Given the description of an element on the screen output the (x, y) to click on. 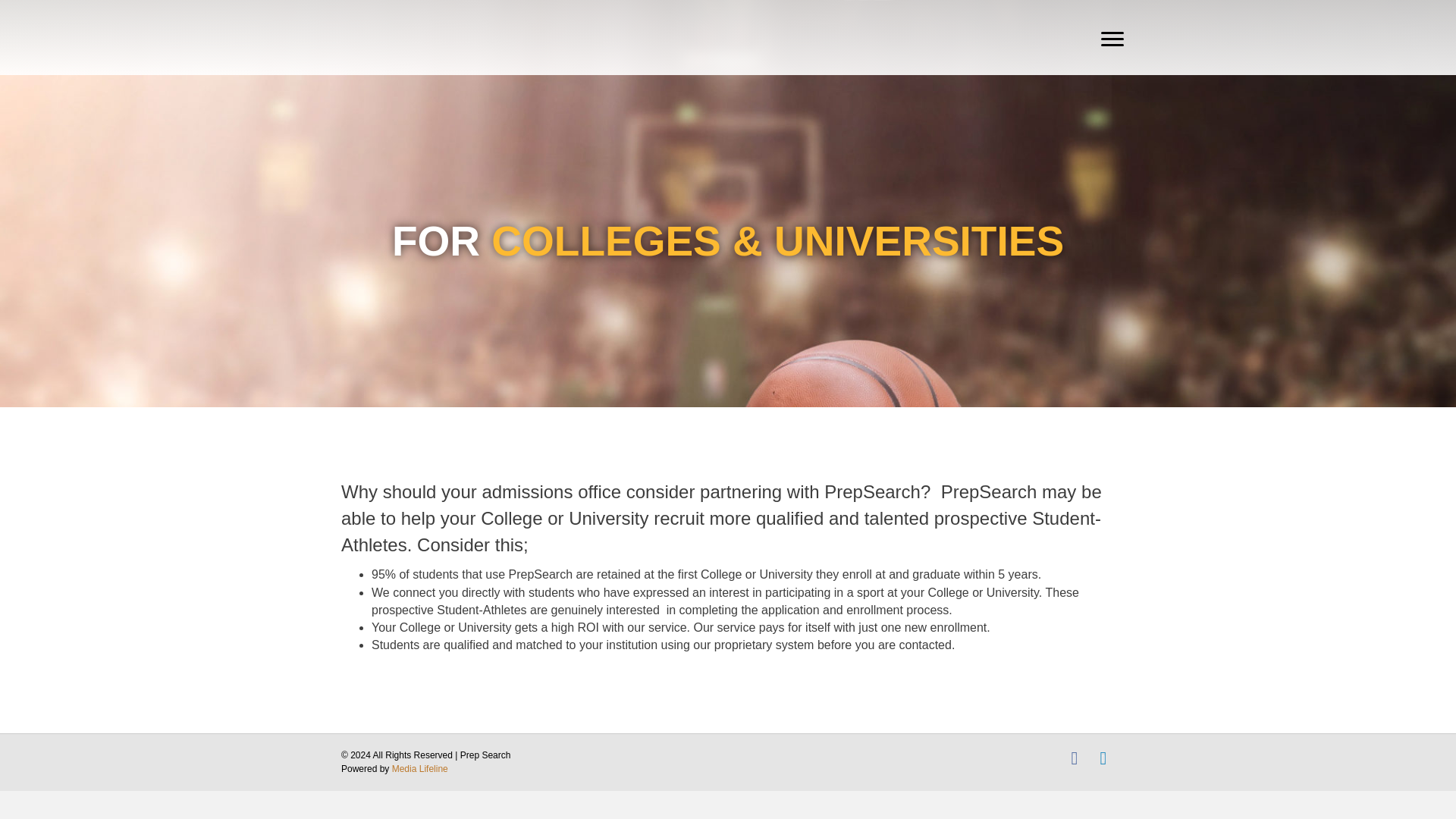
Media Lifeline (419, 768)
Linkedin (1103, 758)
Facebook (1074, 758)
